Given the description of an element on the screen output the (x, y) to click on. 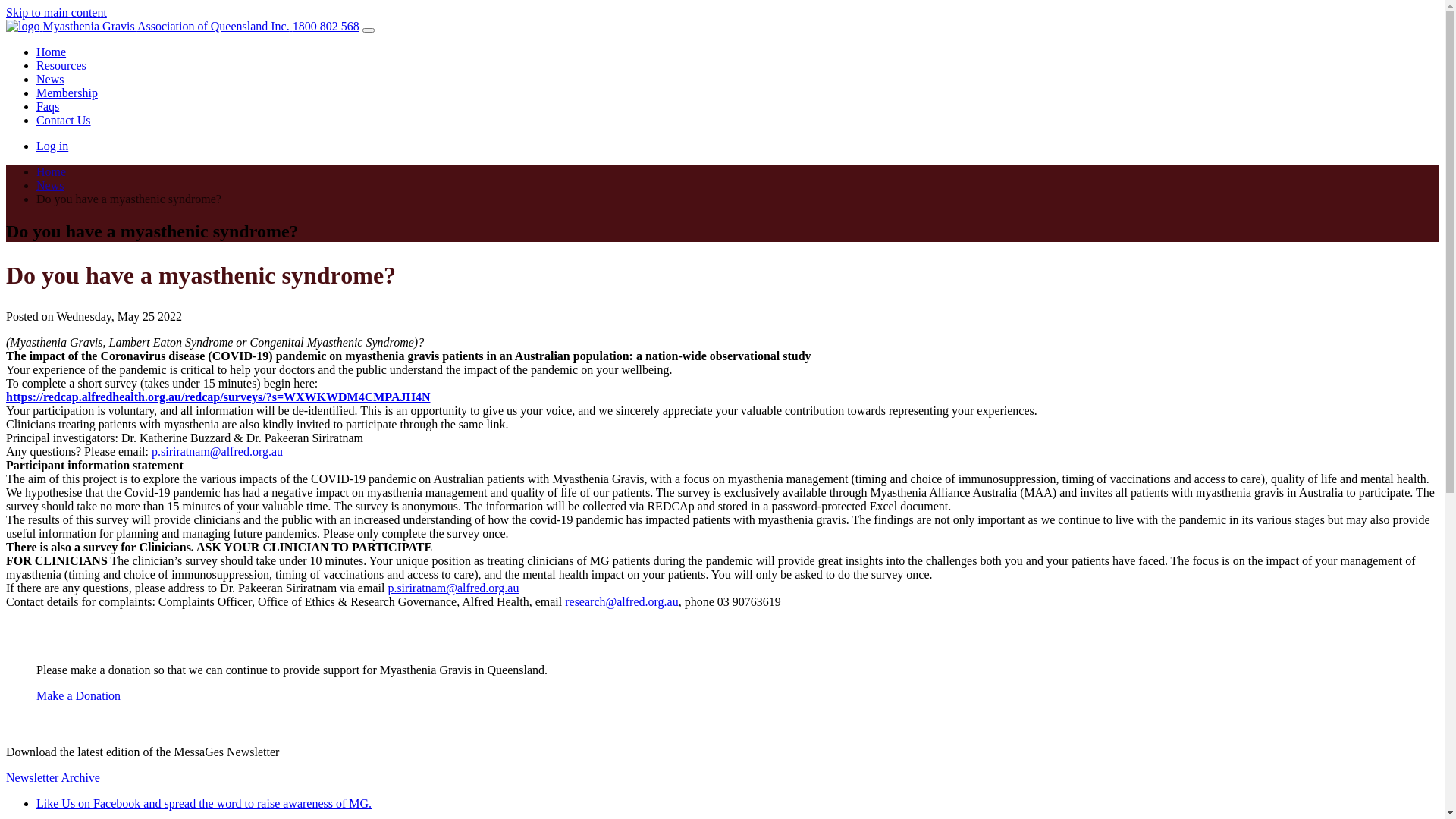
Membership Element type: text (66, 92)
Myasthenia Gravis Association of Queensland Inc. Element type: text (149, 25)
p.siriratnam@alfred.org.au Element type: text (452, 587)
News Element type: text (49, 184)
Newsletter Archive Element type: text (53, 777)
Make a Donation Element type: text (78, 695)
1800 802 568 Element type: text (325, 25)
p.siriratnam@alfred.org.au Element type: text (216, 451)
Resources Element type: text (61, 65)
Myasthenia Gravis - Association of Queensland Inc. Element type: hover (22, 26)
Skip to main content Element type: text (56, 12)
Home Element type: text (50, 51)
Log in Element type: text (52, 145)
Contact Us Element type: text (63, 119)
Faqs Element type: text (47, 106)
News Element type: text (49, 78)
research@alfred.org.au Element type: text (620, 601)
Home Element type: text (50, 171)
